Given the description of an element on the screen output the (x, y) to click on. 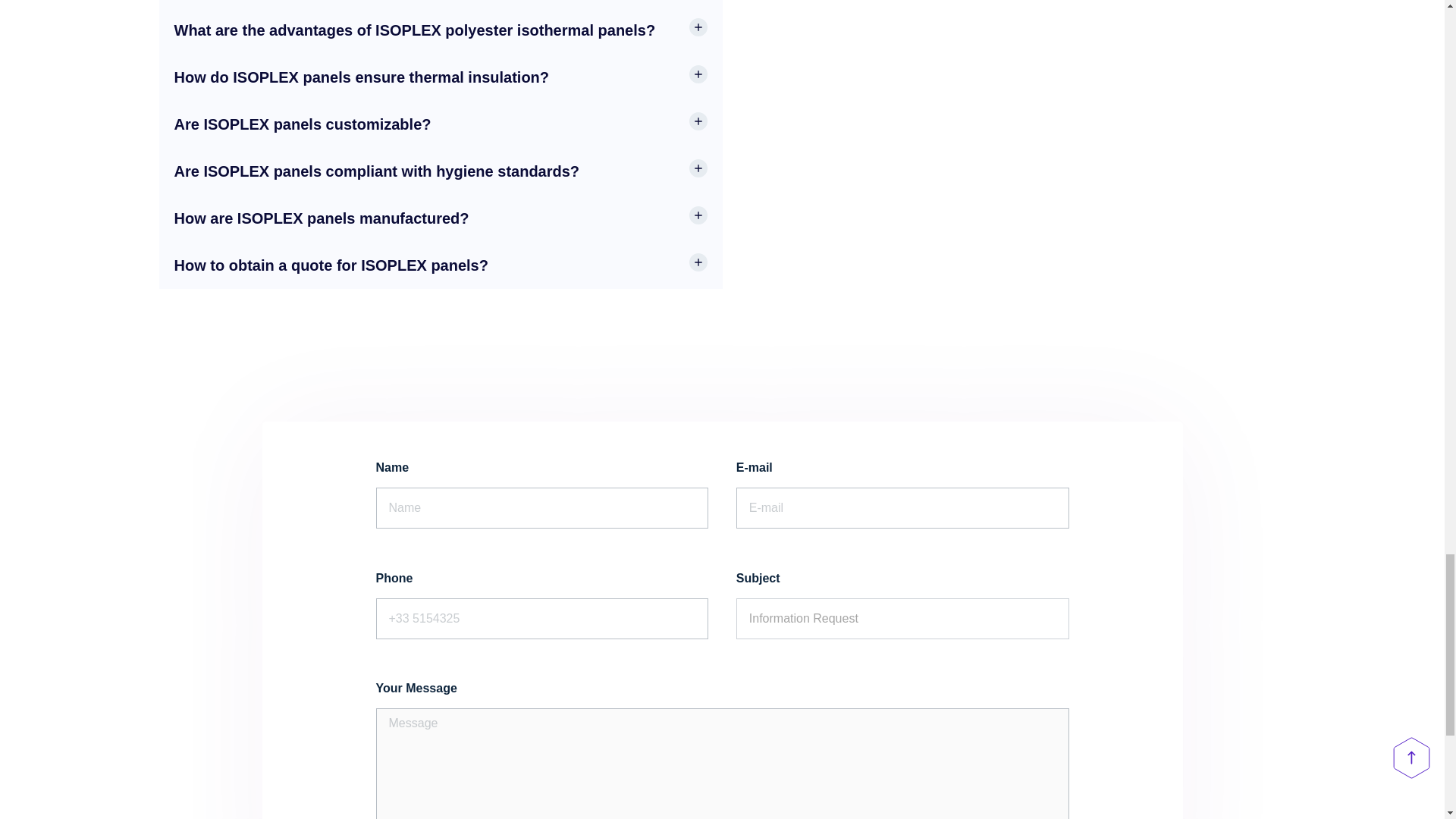
Are ISOPLEX panels customizable? (302, 124)
How to obtain a quote for ISOPLEX panels? (330, 265)
How do ISOPLEX panels ensure thermal insulation? (362, 76)
How are ISOPLEX panels manufactured? (321, 217)
Are ISOPLEX panels compliant with hygiene standards? (376, 170)
